Given the description of an element on the screen output the (x, y) to click on. 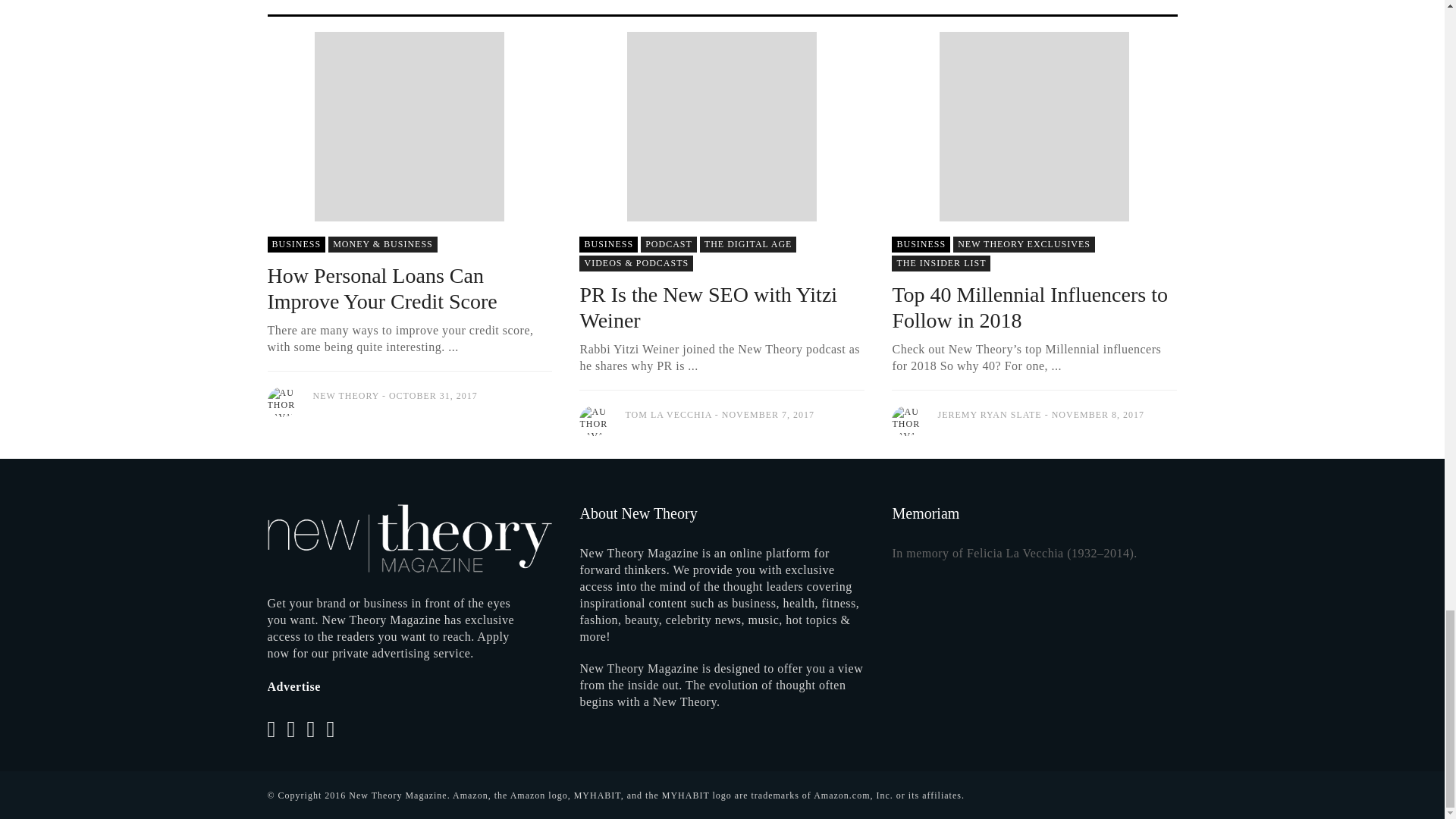
View all posts in 922 (636, 263)
View all posts in 3845 (920, 244)
View all posts in 3845 (608, 244)
View all posts in 3845 (295, 244)
View all posts in 923 (1023, 244)
View all posts in 3847 (668, 244)
View all posts in 152 (748, 244)
View all posts in 144 (383, 244)
